Given the description of an element on the screen output the (x, y) to click on. 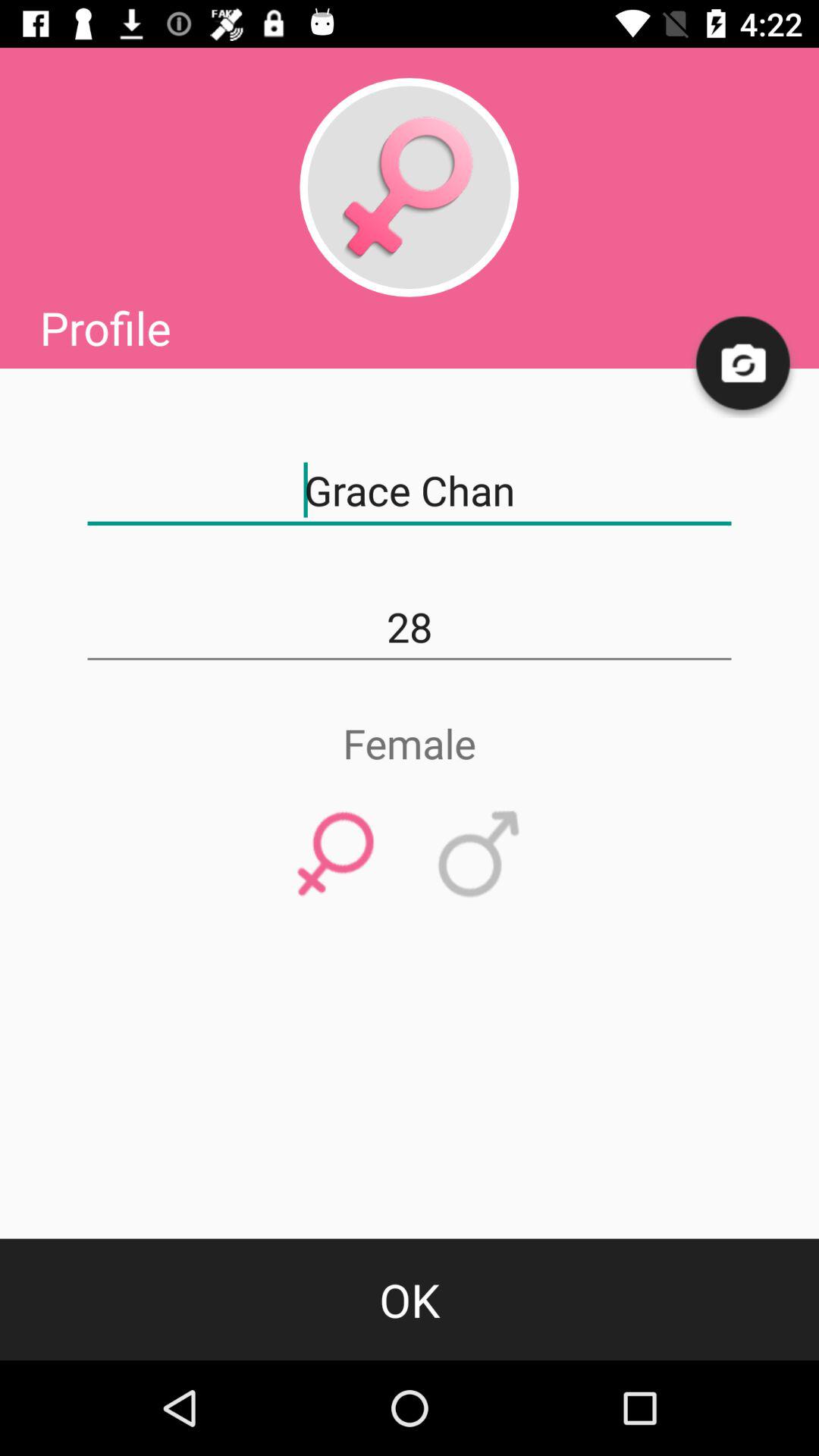
open the icon above female item (409, 626)
